Given the description of an element on the screen output the (x, y) to click on. 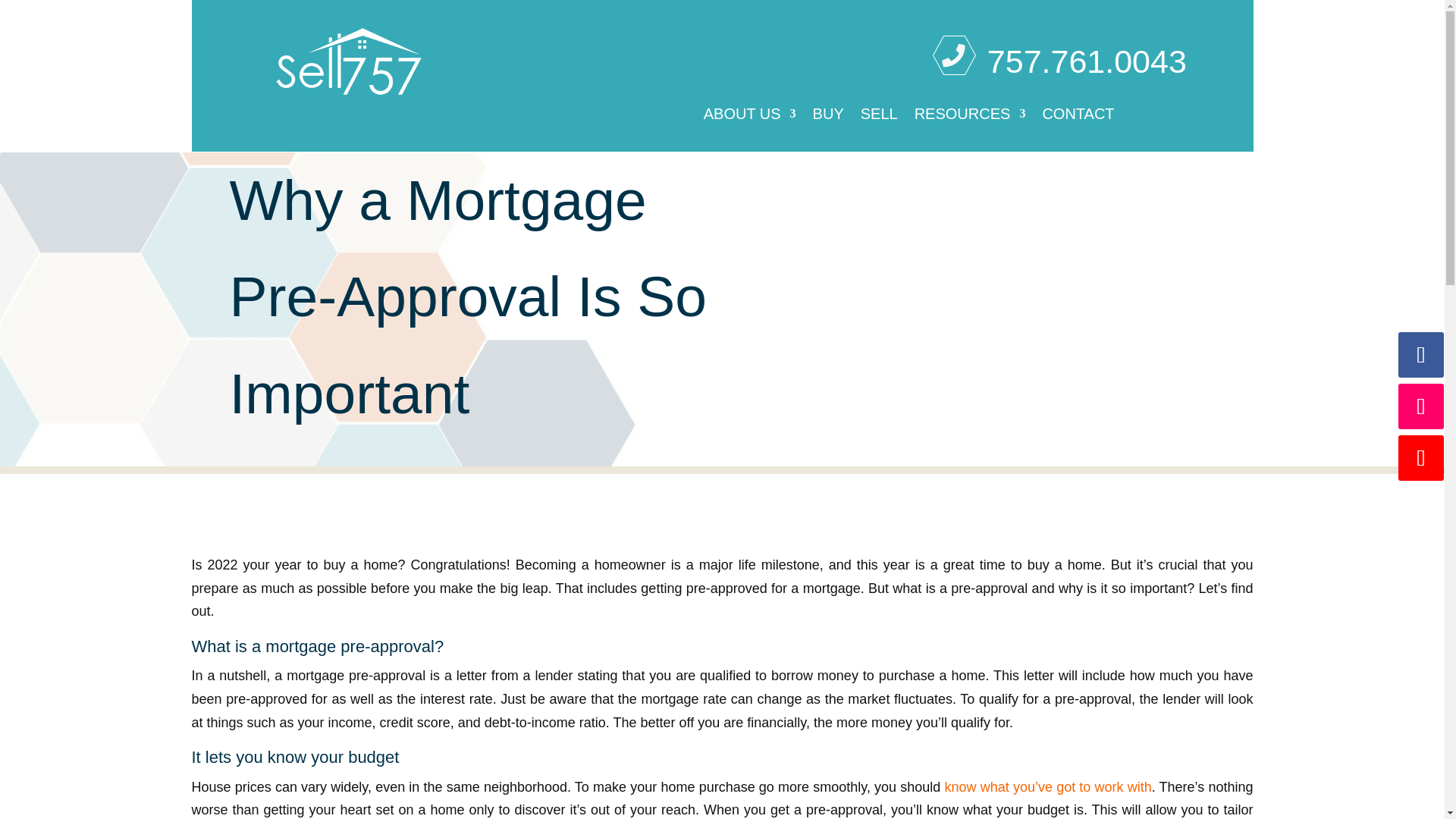
SELL (879, 116)
Follow on Youtube (1420, 457)
ABOUT US (749, 116)
Follow on Instagram (1420, 406)
logo (349, 61)
RESOURCES (970, 116)
CONTACT (1077, 116)
Follow on Facebook (1420, 354)
BUY (828, 116)
